Given the description of an element on the screen output the (x, y) to click on. 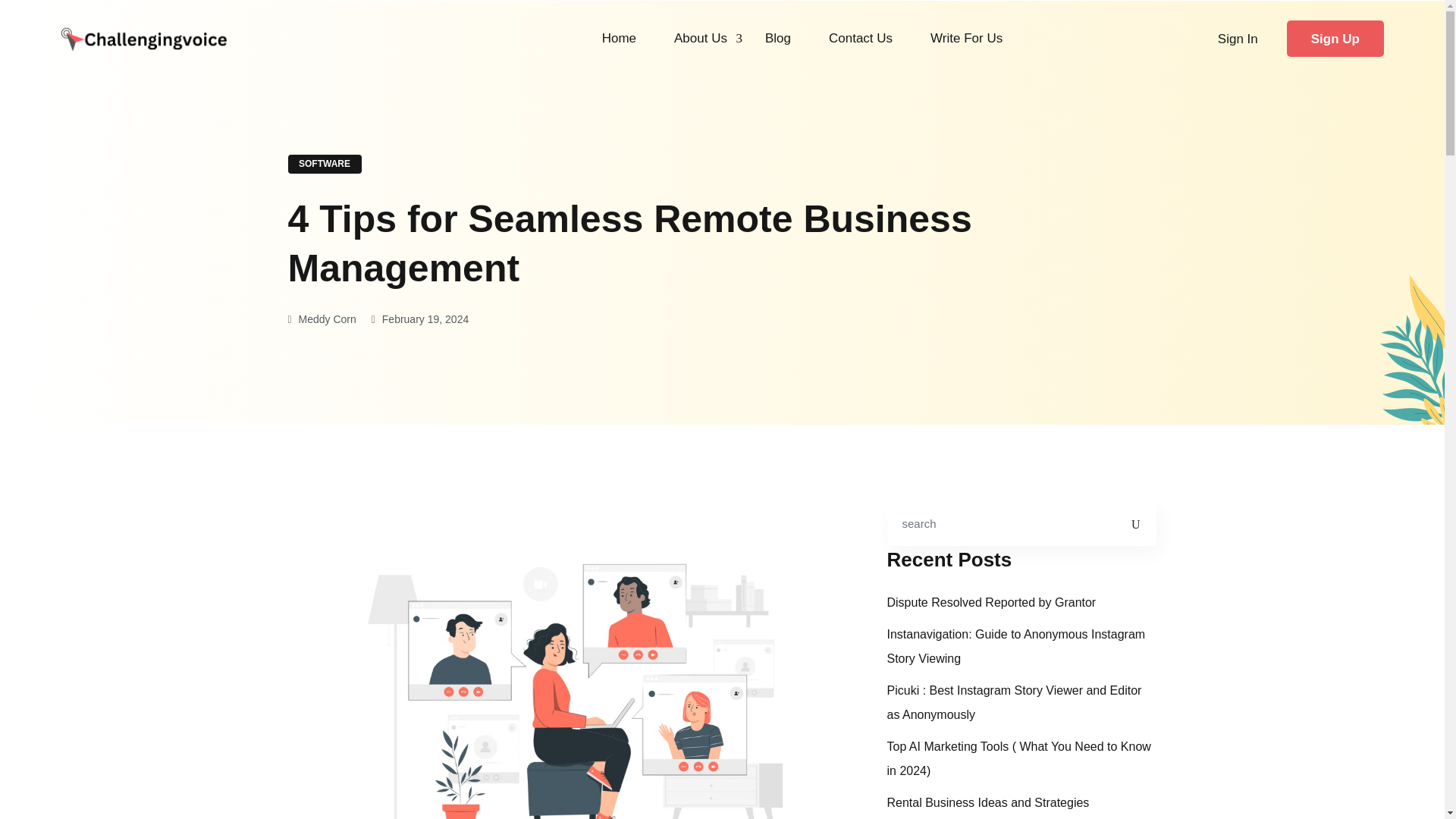
Blog (777, 38)
Home (619, 38)
Sign In (1237, 38)
About Us (700, 38)
Home (619, 38)
Sign Up (1335, 38)
Meddy Corn (322, 318)
Rental Business Ideas and Strategies (987, 802)
Contact Us (860, 38)
Dispute Resolved Reported by Grantor (991, 602)
Write For Us (966, 38)
SOFTWARE (324, 163)
Contact Us (860, 38)
Instanavigation: Guide to Anonymous Instagram Story Viewing (1021, 646)
